Given the description of an element on the screen output the (x, y) to click on. 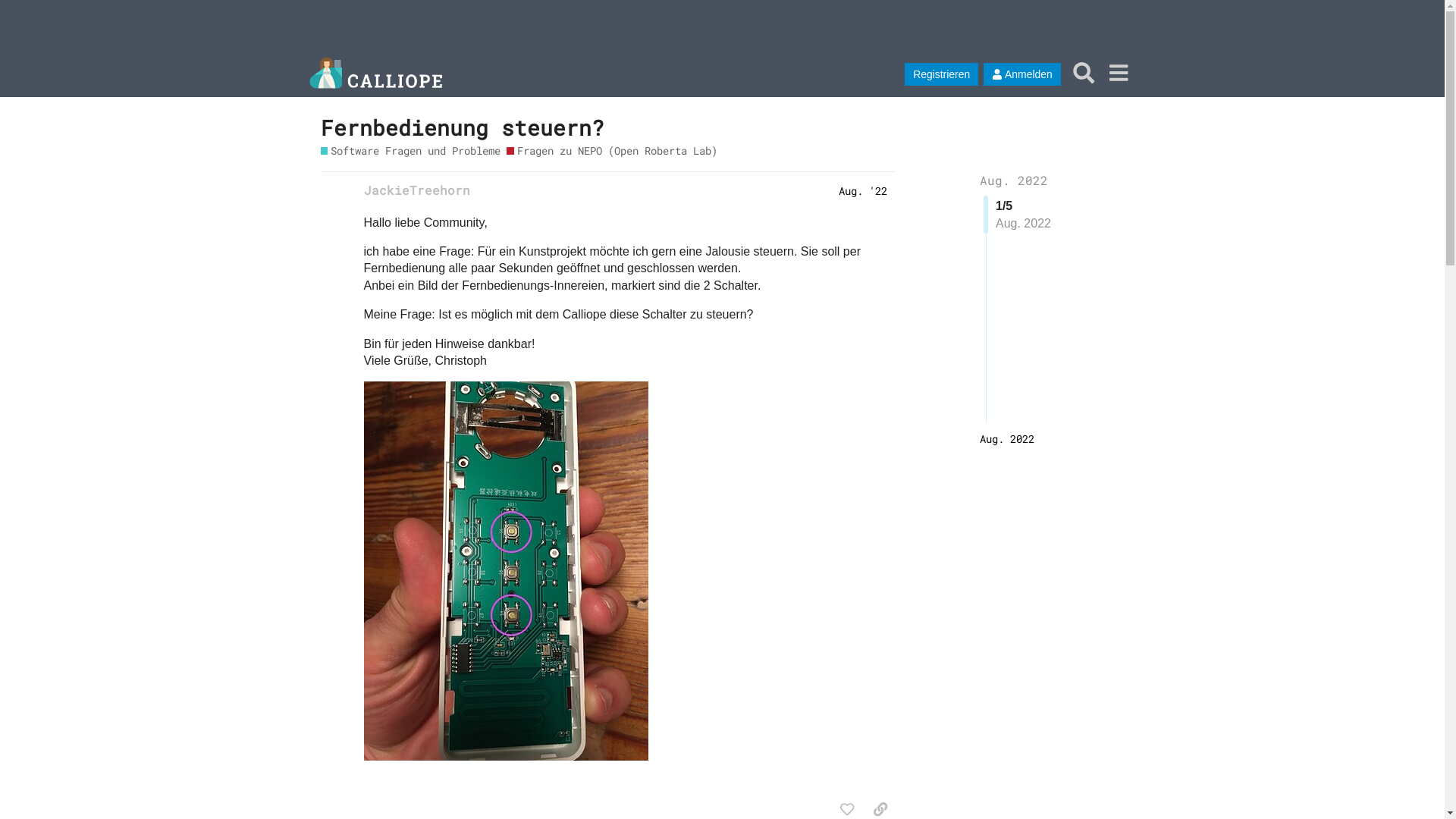
Aug. 2022 Element type: text (1013, 180)
Fragen zu NEPO (Open Roberta Lab) Element type: text (611, 150)
Aug. '22 Element type: text (862, 189)
Fernbedienung steuern? Element type: text (461, 127)
Anmelden Element type: text (1021, 73)
Software Fragen und Probleme Element type: text (410, 150)
IMG_4734 Element type: hover (506, 570)
Registrieren Element type: text (941, 73)
JackieTreehorn Element type: text (417, 189)
Suche Element type: hover (1083, 72)
Aug. 2022 Element type: text (1006, 438)
